Given the description of an element on the screen output the (x, y) to click on. 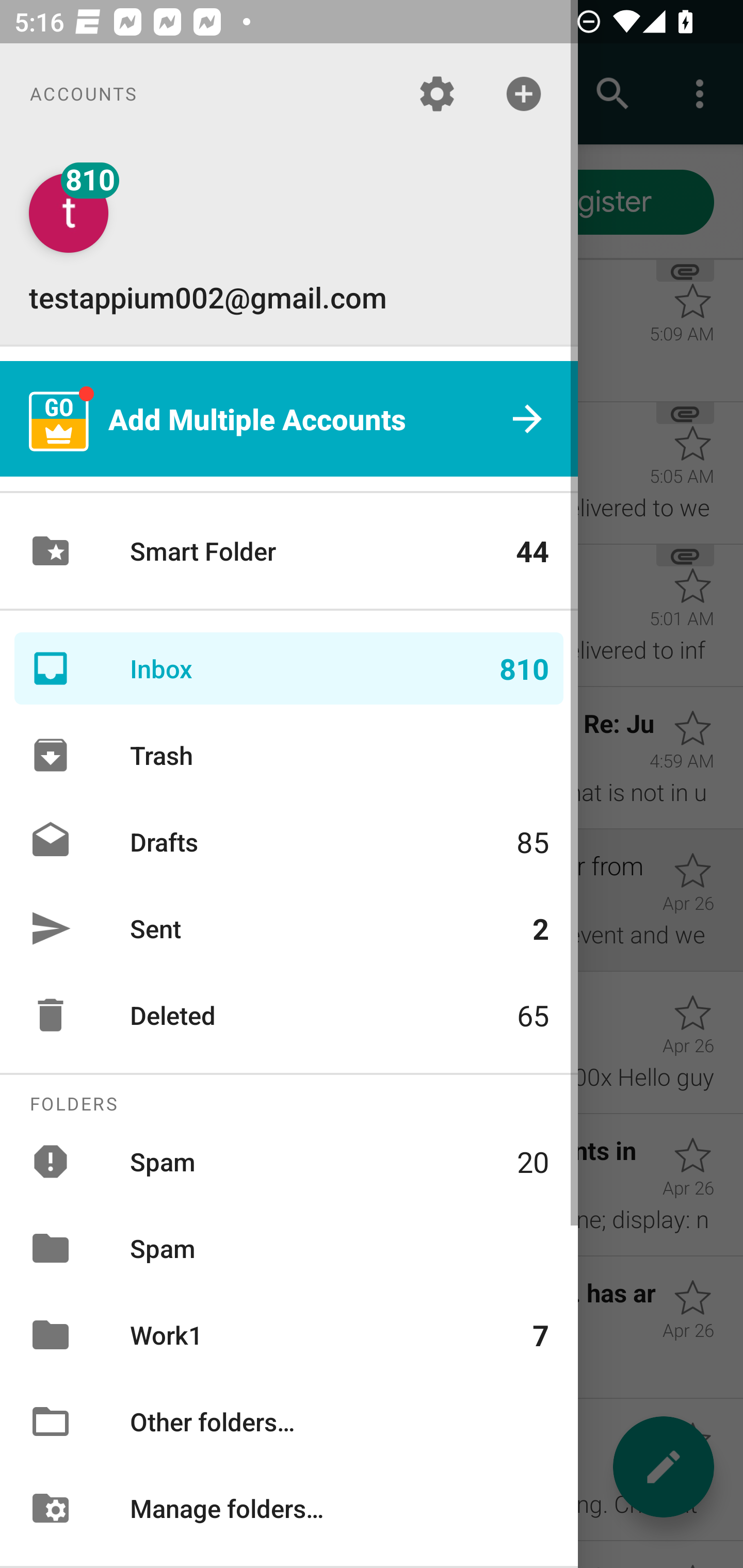
testappium002@gmail.com (289, 244)
Add Multiple Accounts (289, 418)
Smart Folder 44 (289, 551)
Inbox 810 (289, 668)
Trash (289, 754)
Drafts 85 (289, 841)
Sent 2 (289, 928)
Deleted 65 (289, 1015)
Spam 20 (289, 1160)
Spam (289, 1248)
Work1 7 (289, 1335)
Other folders… (289, 1421)
Manage folders… (289, 1507)
